Given the description of an element on the screen output the (x, y) to click on. 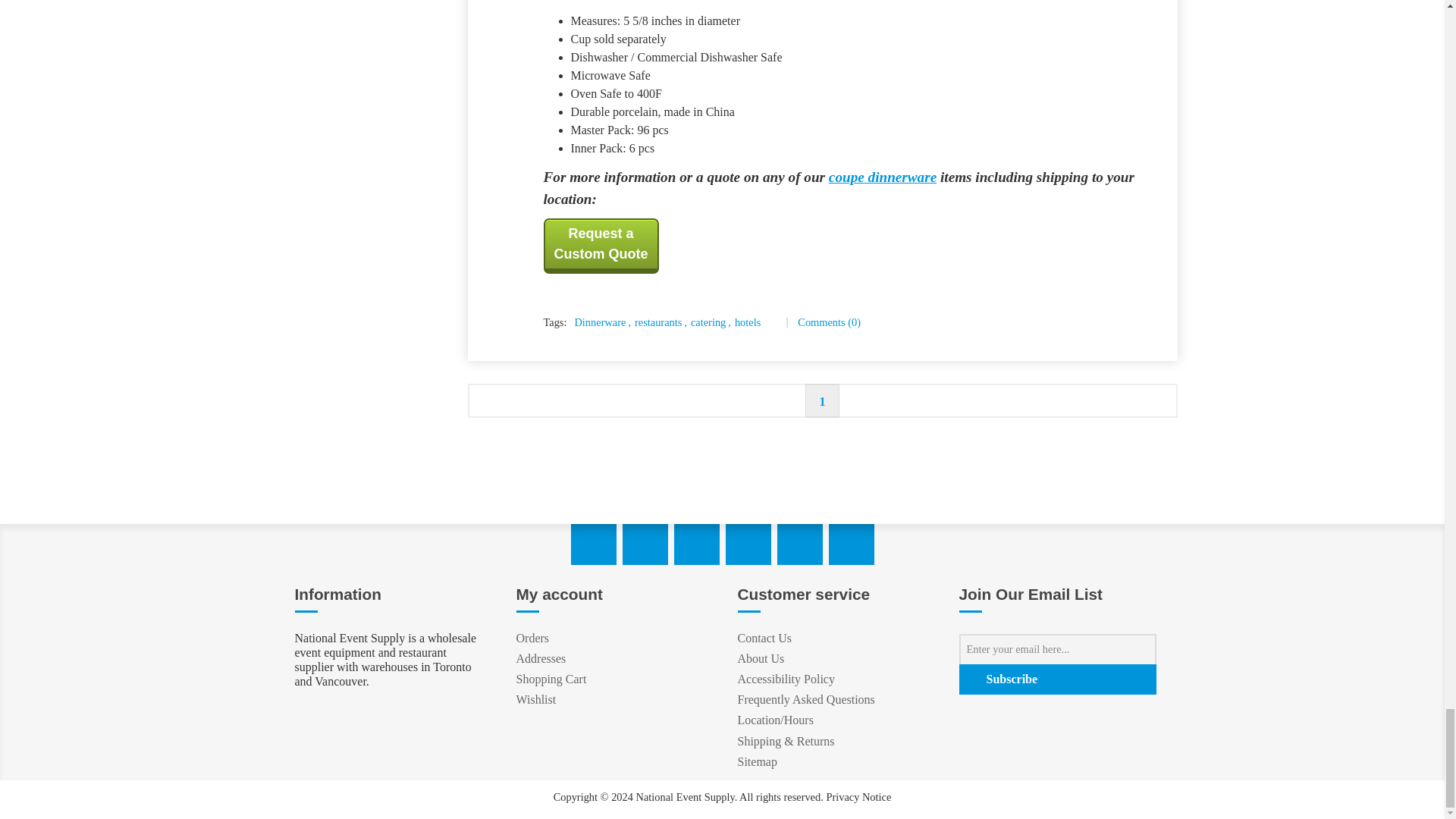
Subscribe (1057, 679)
